Given the description of an element on the screen output the (x, y) to click on. 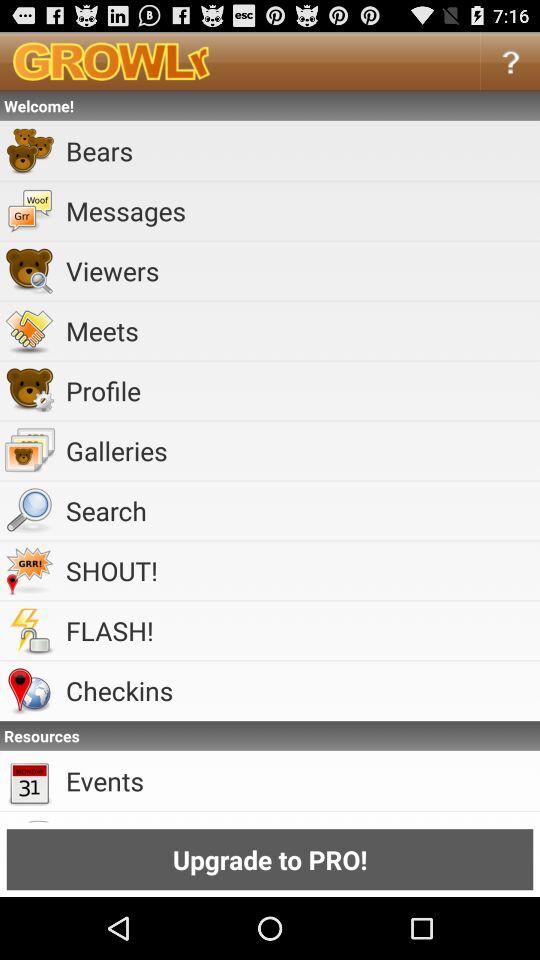
switch help option (510, 60)
